Given the description of an element on the screen output the (x, y) to click on. 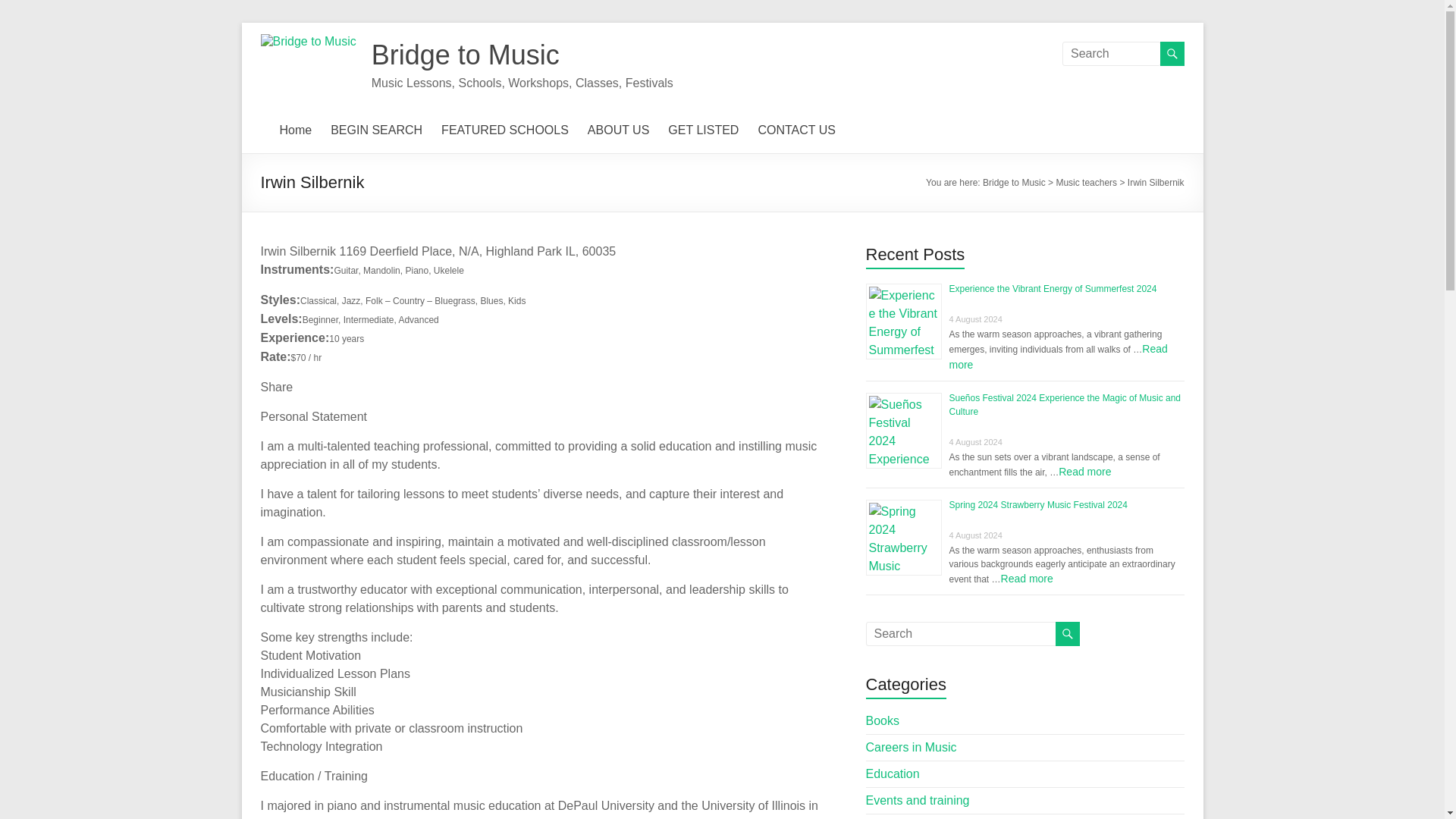
GET LISTED (703, 129)
Careers in Music (911, 747)
bannerNote (308, 41)
Read more (1058, 357)
Events and training (917, 799)
Bridge to Music (465, 54)
Go to Bridge to Music. (1013, 182)
Go to the Music teachers Category archives. (1085, 182)
Read more (1084, 471)
Bridge to Music (1013, 182)
Home (295, 129)
Spring 2024 Strawberry Music Festival 2024 (1037, 504)
Education (893, 773)
BEGIN SEARCH (376, 129)
